Given the description of an element on the screen output the (x, y) to click on. 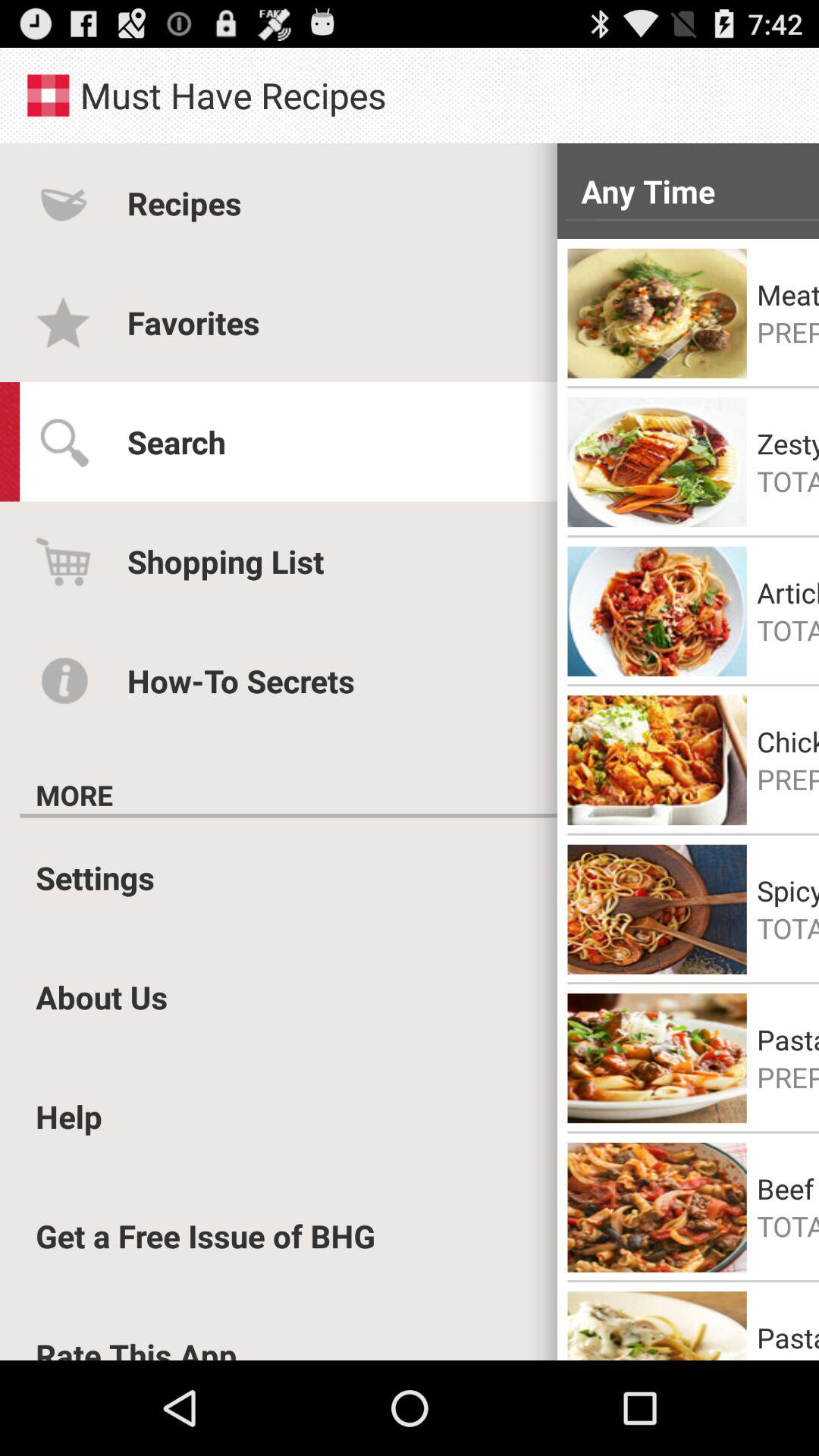
press the zesty salmon pasta item (788, 443)
